Given the description of an element on the screen output the (x, y) to click on. 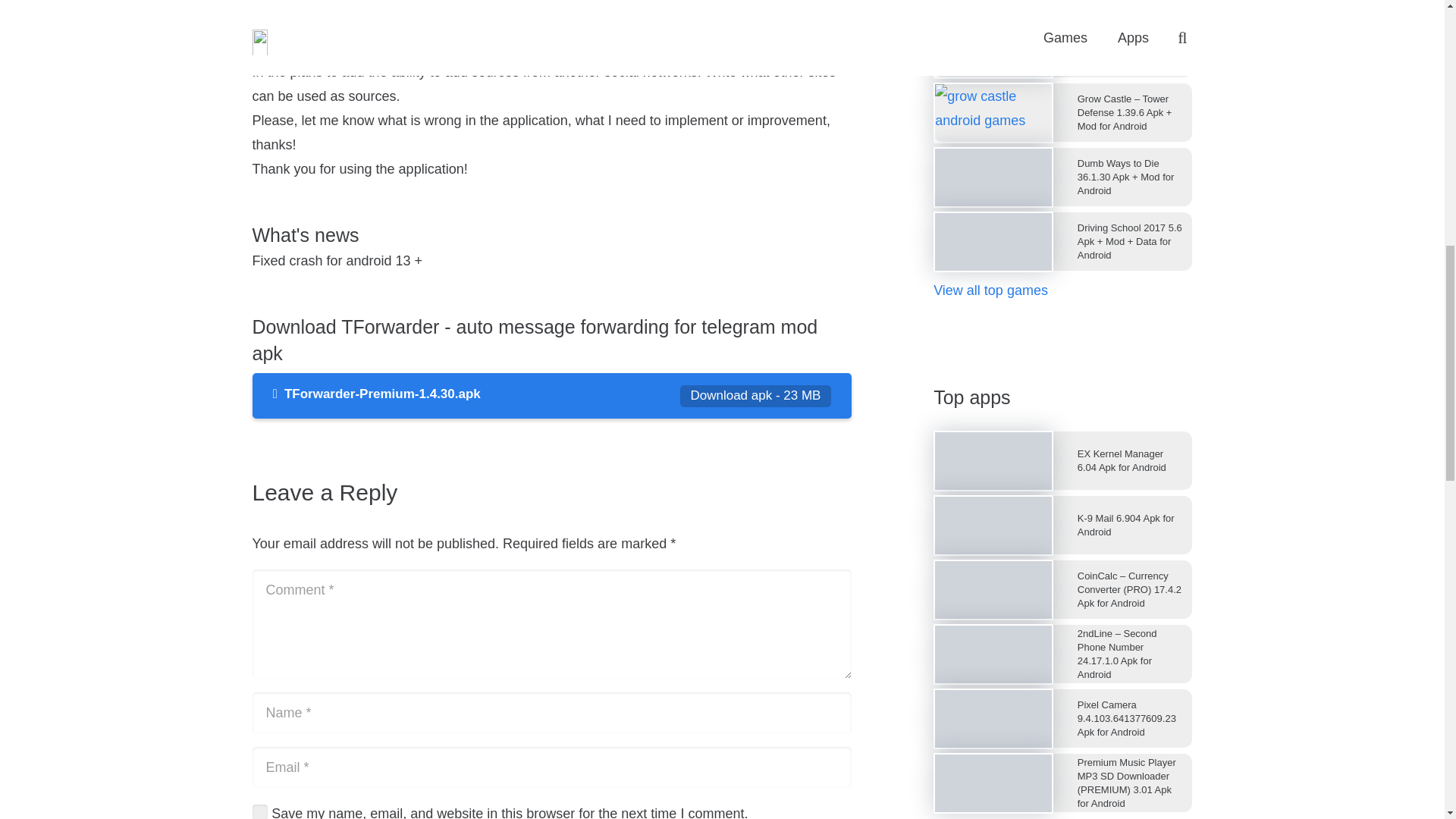
2ndLine - Second Phone Number 24.17.1.0 Apk for Android 11 (992, 654)
EX Kernel Manager 6.04 Apk for Android 8 (992, 460)
Pixel Camera 9.4.103.641377609.23 Apk for Android 12 (992, 718)
K-9 Mail 6.904 Apk for Android 9 (992, 525)
1 (259, 811)
